Given the description of an element on the screen output the (x, y) to click on. 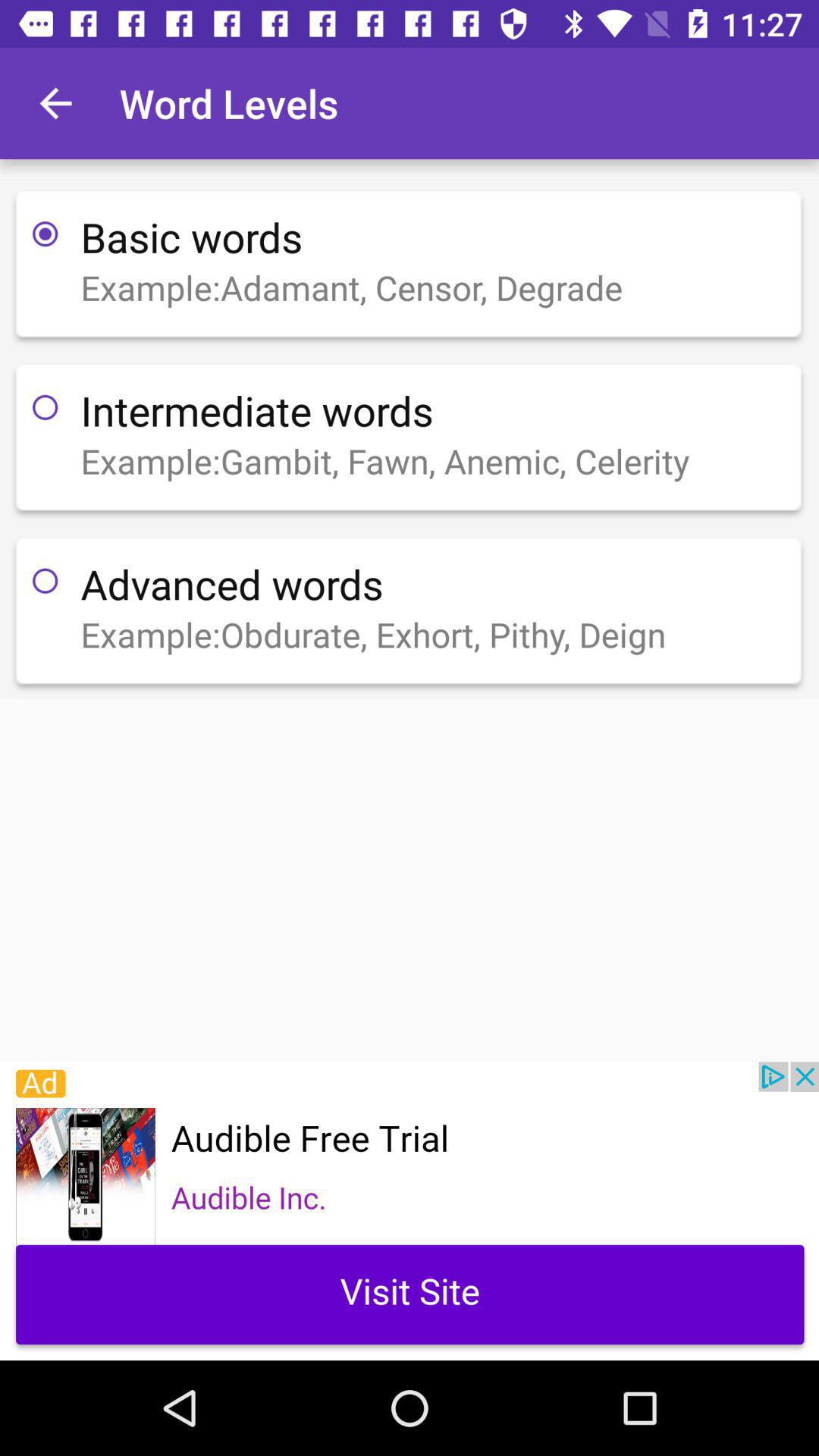
advertisements will be display (409, 1210)
